Given the description of an element on the screen output the (x, y) to click on. 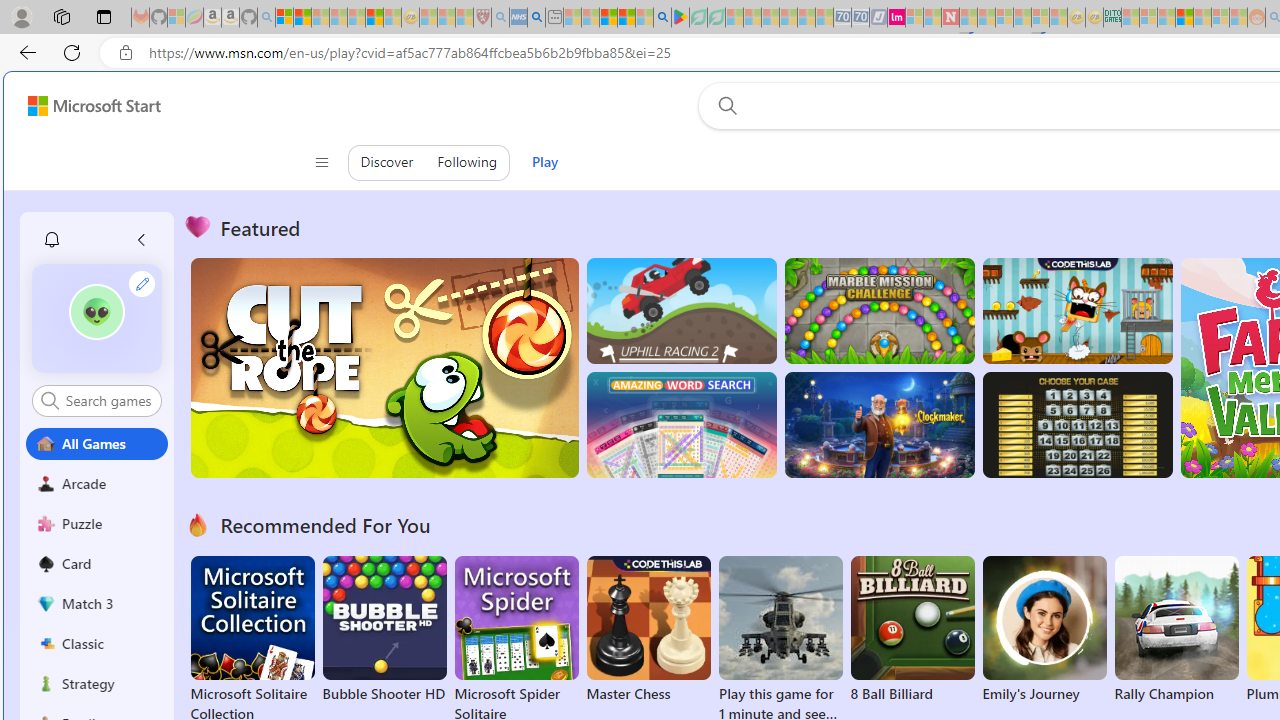
Kinda Frugal - MSN - Sleeping (1202, 17)
8 Ball Billiard (912, 629)
utah sues federal government - Search (536, 17)
Deal or No Deal (1076, 425)
